Given the description of an element on the screen output the (x, y) to click on. 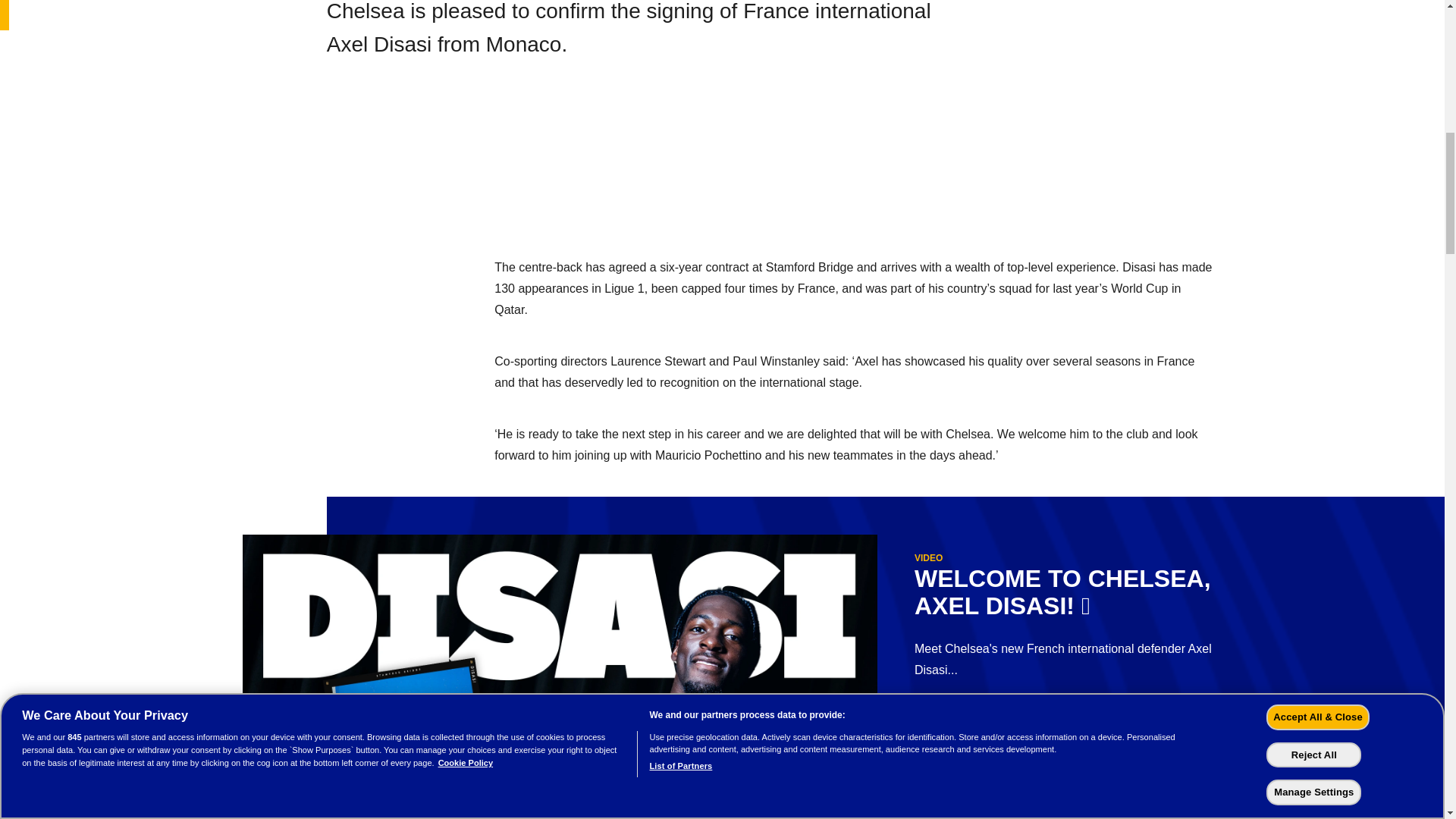
3rd party ad content (727, 174)
